Given the description of an element on the screen output the (x, y) to click on. 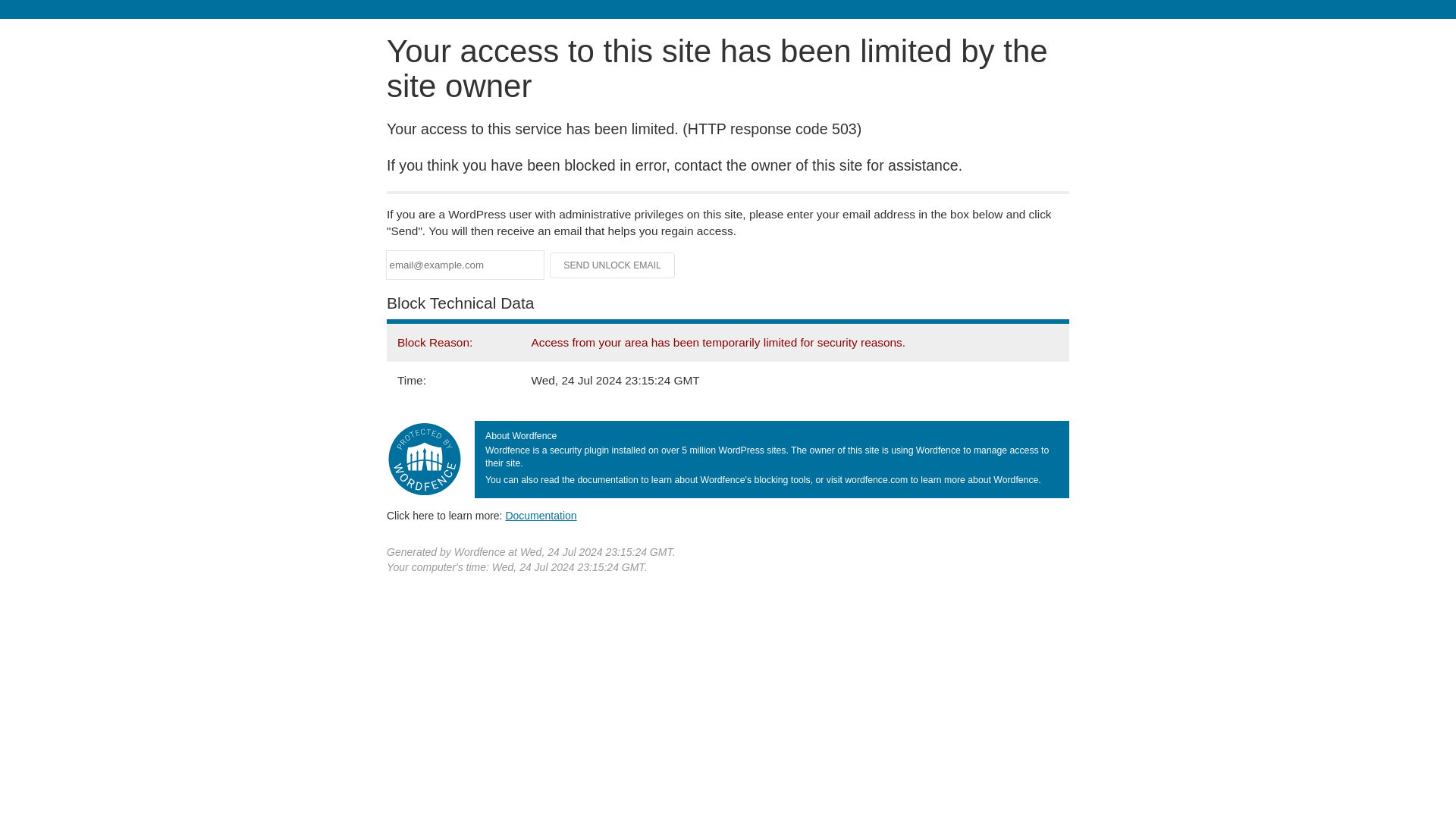
Send Unlock Email (612, 265)
Send Unlock Email (612, 265)
Documentation (540, 515)
